Given the description of an element on the screen output the (x, y) to click on. 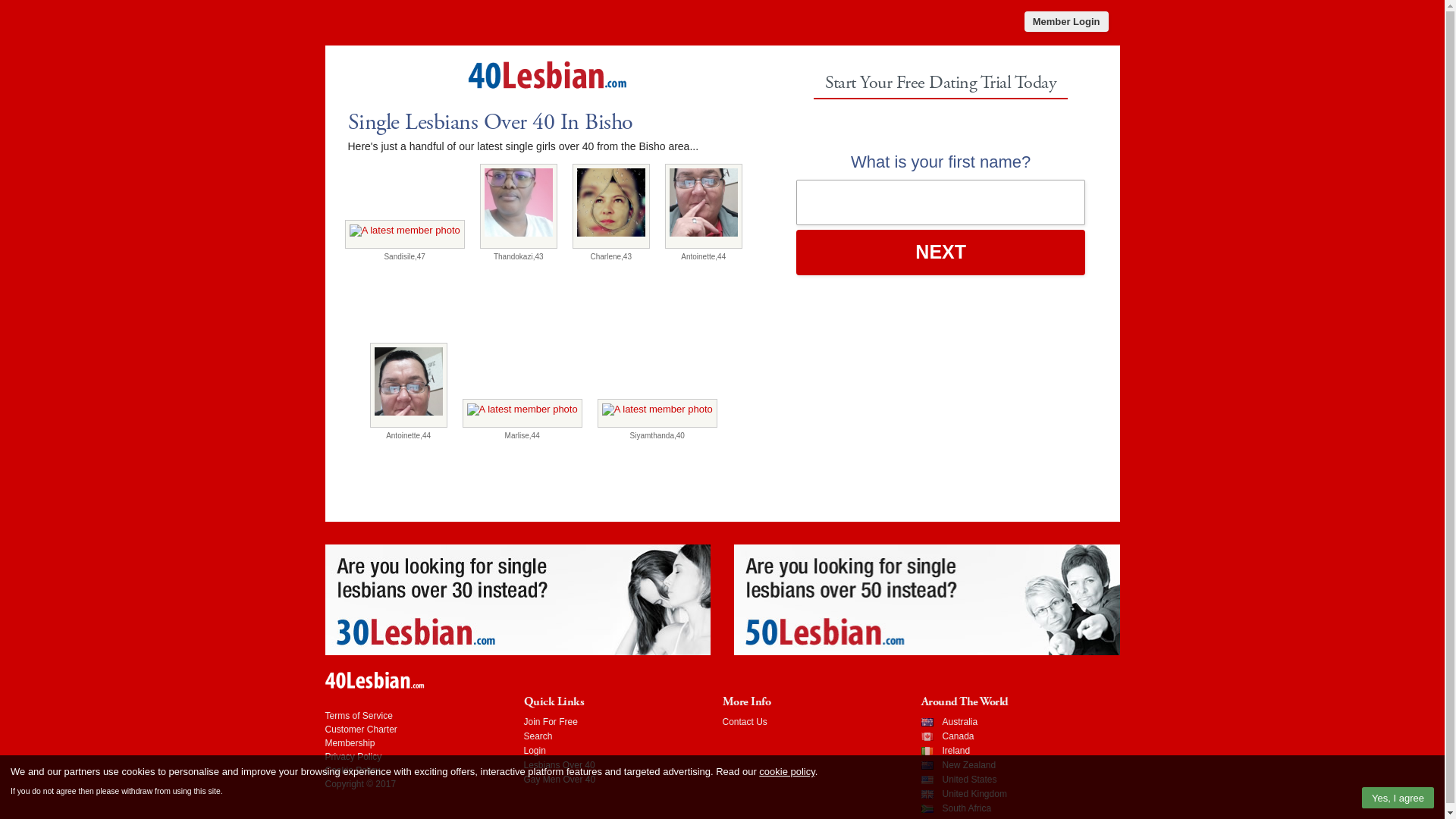
South Africa Element type: text (966, 808)
Contact Us Element type: text (743, 721)
Cookie Policy Element type: text (351, 770)
Thandokazi, 43 from East London, Eastern Cape Element type: hover (518, 205)
United Kingdom Element type: text (973, 793)
Antoinette, 44 from Pefferville, Eastern Cape Element type: hover (408, 384)
Yes, I agree Element type: text (1397, 797)
Customer Charter Element type: text (360, 729)
United States Element type: text (968, 779)
Join For Free Element type: text (550, 721)
Login Element type: text (534, 750)
Canada Element type: text (957, 736)
cookie policy Element type: text (786, 771)
Search Element type: text (537, 736)
NEXT Element type: text (940, 252)
Privacy Policy Element type: text (352, 756)
Lesbians Over 40 Element type: text (558, 764)
Antoinette, 44 from East London, Eastern Cape Element type: hover (703, 205)
Charlene, 43 from Walmer, Eastern Cape Element type: hover (610, 205)
Ireland Element type: text (955, 750)
Australia Element type: text (959, 721)
Sandisile, 47 from East London, Eastern Cape Element type: hover (404, 233)
Terms of Service Element type: text (358, 715)
New Zealand Element type: text (968, 764)
Gay Men Over 40 Element type: text (559, 779)
Marlise, 44 from Graaff-Reinet, Eastern Cape Element type: hover (522, 412)
Siyamthanda, 40 from East London, Eastern Cape Element type: hover (657, 412)
Member Login Element type: text (1066, 21)
Membership Element type: text (349, 742)
